Given the description of an element on the screen output the (x, y) to click on. 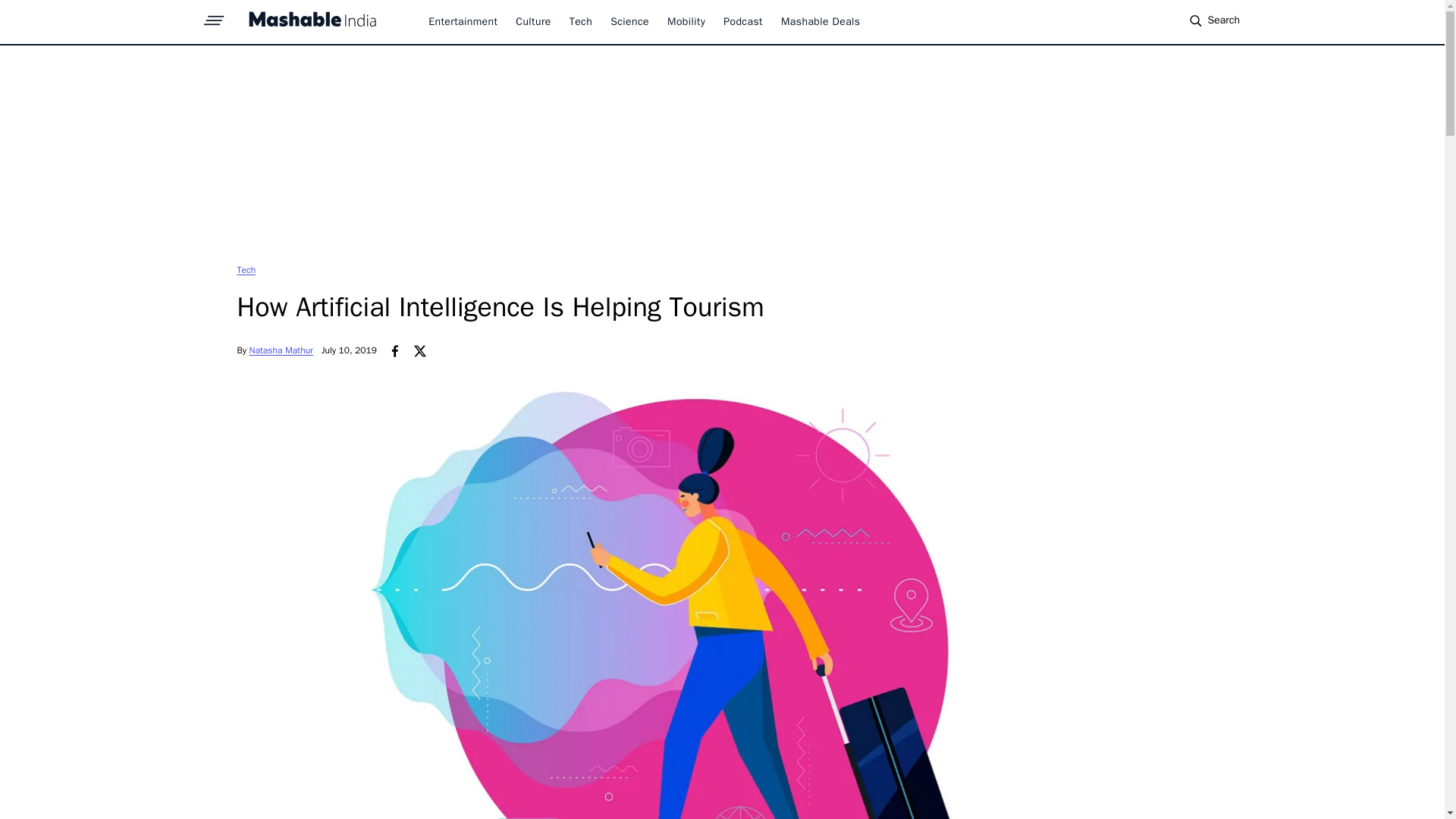
Culture (532, 21)
Tech (580, 21)
Natasha Mathur (280, 349)
Mashable Deals (820, 21)
Science (629, 21)
Tech (245, 269)
Mobility (685, 21)
Entertainment (462, 21)
Podcast (742, 21)
sprite-hamburger (213, 16)
Tech (245, 269)
